Given the description of an element on the screen output the (x, y) to click on. 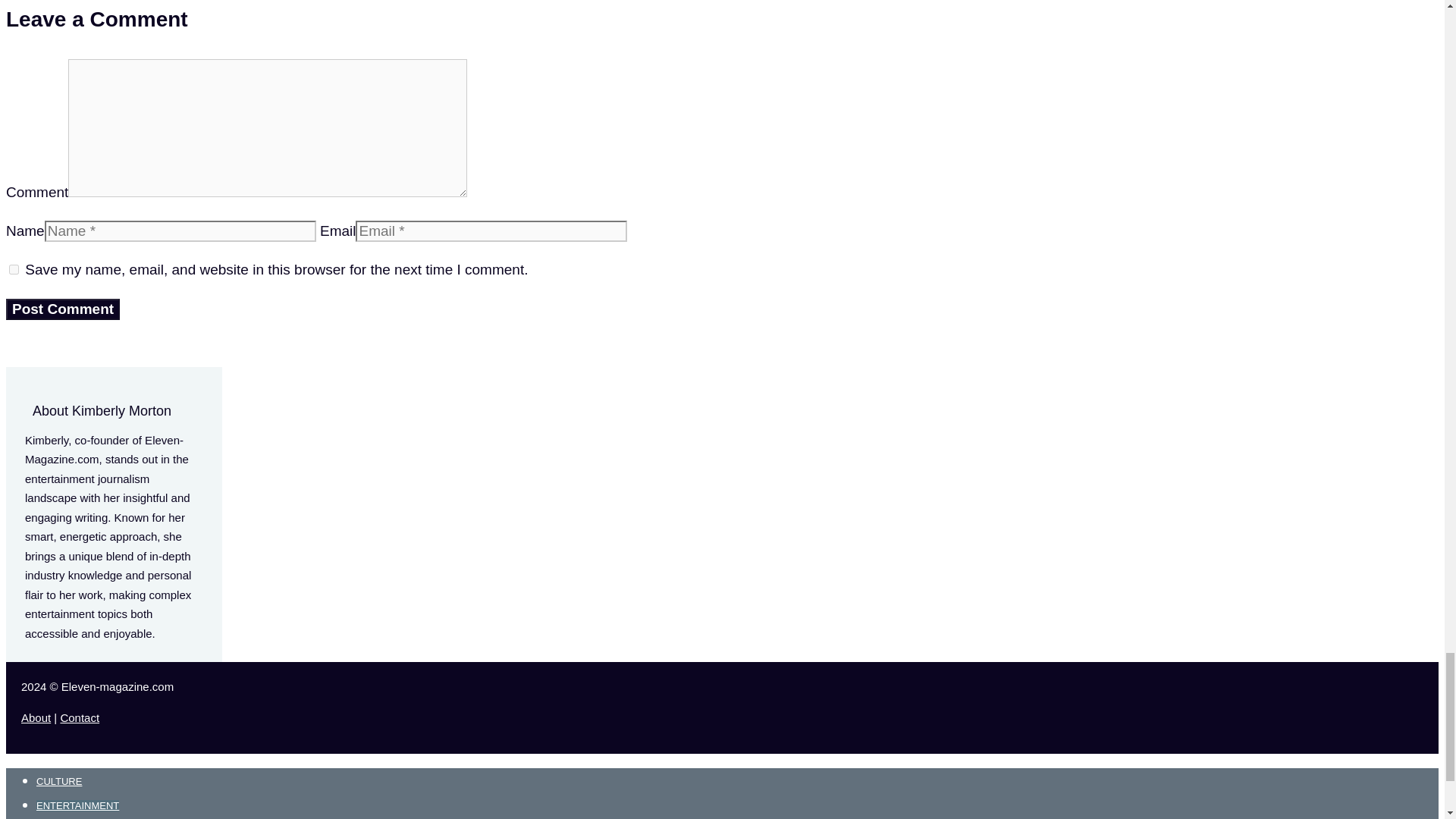
yes (13, 269)
CULTURE (58, 781)
ENTERTAINMENT (77, 805)
About (35, 717)
Post Comment (62, 309)
Post Comment (62, 309)
Contact (79, 717)
